Given the description of an element on the screen output the (x, y) to click on. 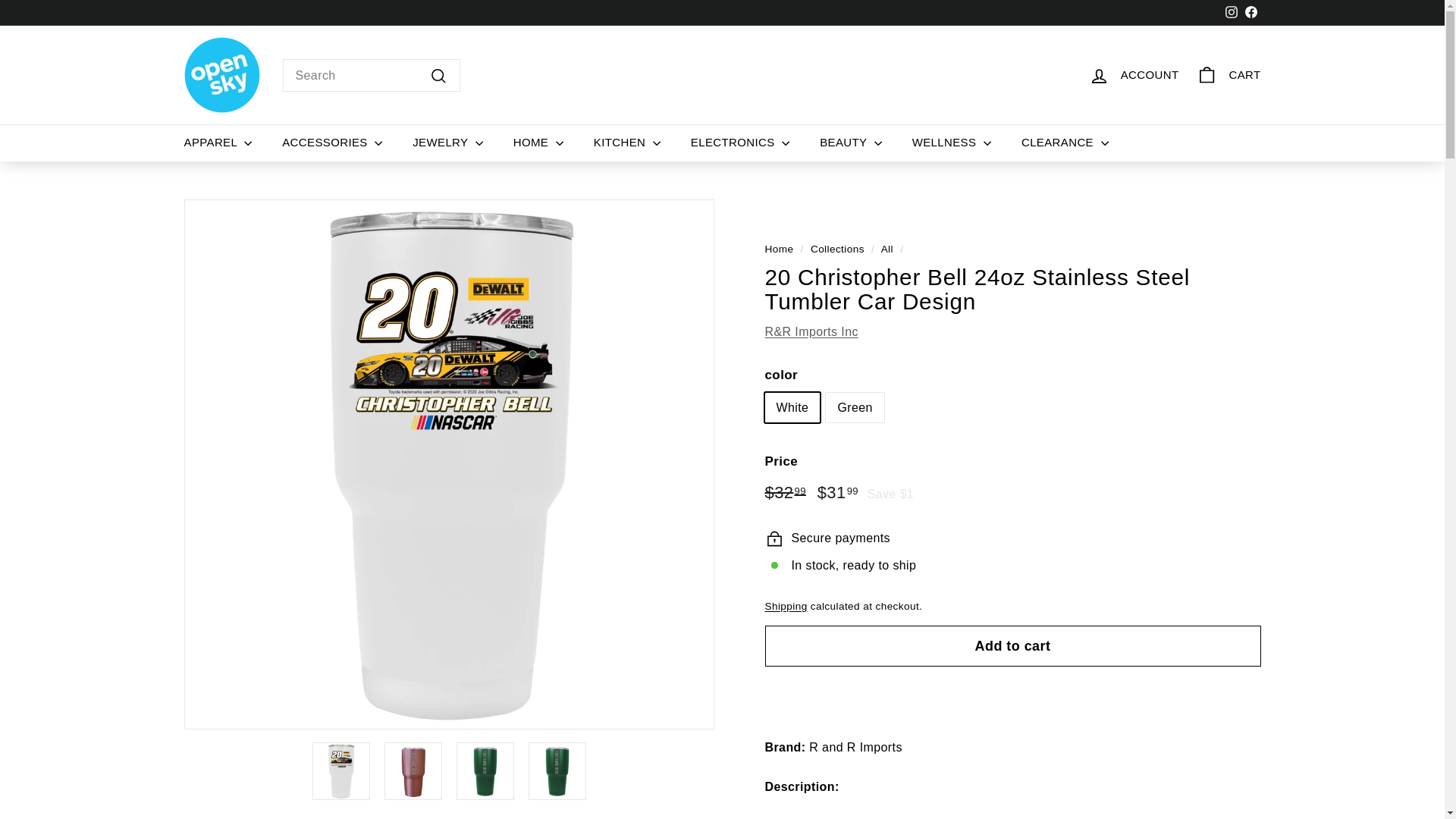
ACCOUNT (1134, 75)
Back to the frontpage (778, 248)
CART (1228, 75)
instagram (1231, 11)
